Given the description of an element on the screen output the (x, y) to click on. 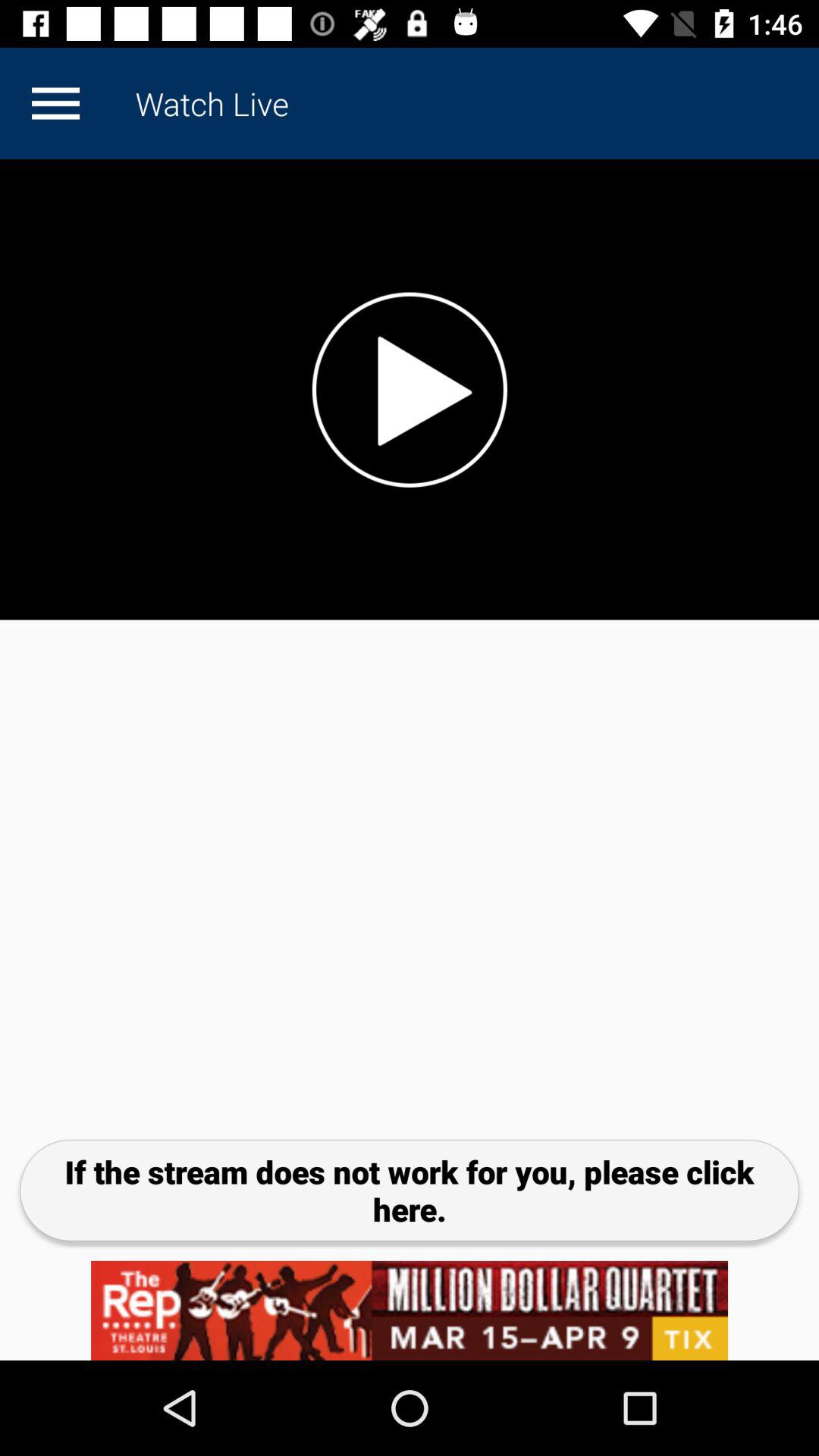
view menu (55, 103)
